Given the description of an element on the screen output the (x, y) to click on. 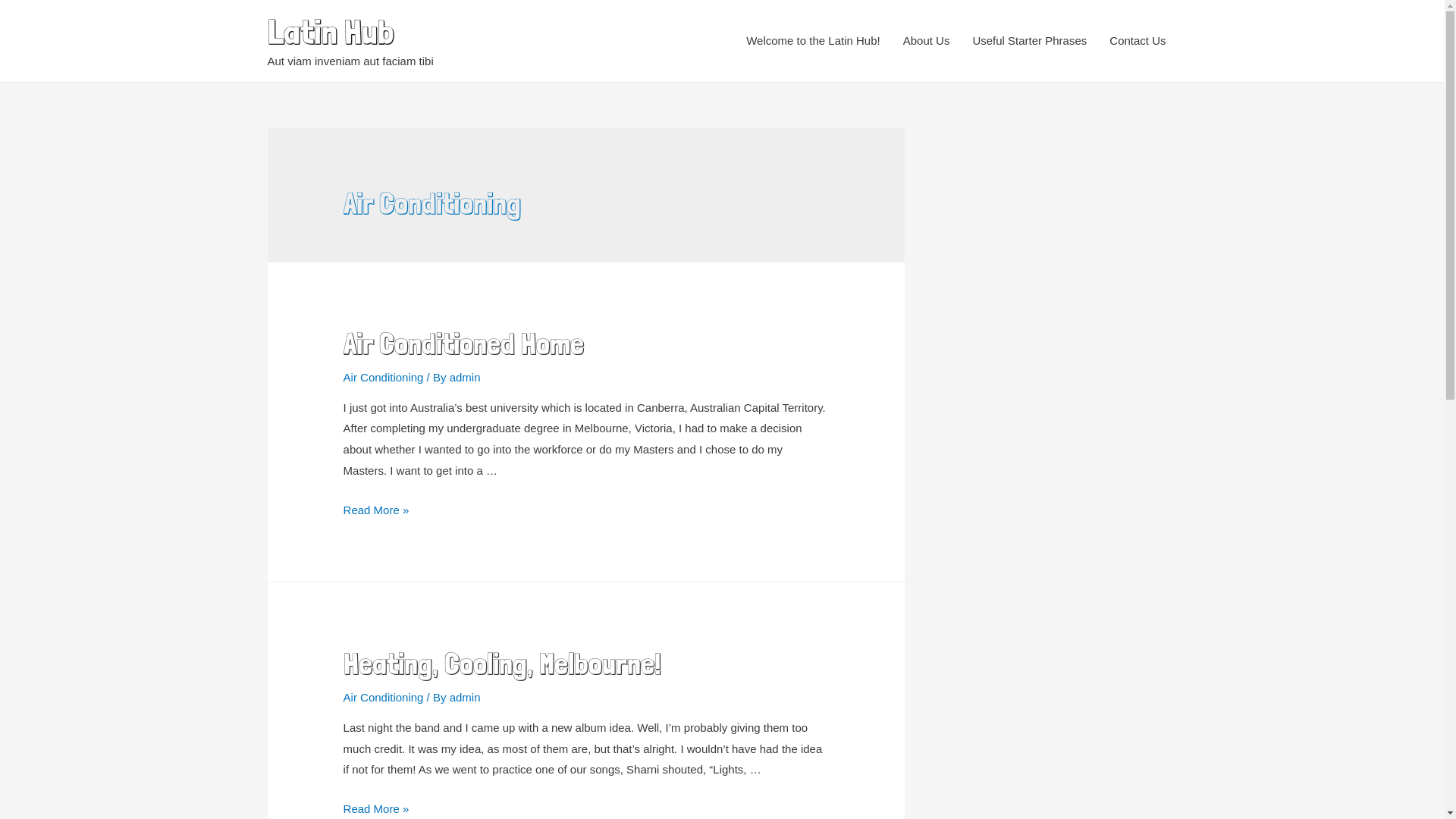
admin Element type: text (464, 696)
Useful Starter Phrases Element type: text (1029, 40)
Air Conditioning Element type: text (383, 696)
Heating, Cooling, Melbourne! Element type: text (502, 663)
Air Conditioned Home Element type: text (463, 343)
About Us Element type: text (926, 40)
admin Element type: text (464, 376)
Contact Us Element type: text (1137, 40)
Welcome to the Latin Hub! Element type: text (812, 40)
Air Conditioning Element type: text (383, 376)
Latin Hub Element type: text (329, 31)
